Given the description of an element on the screen output the (x, y) to click on. 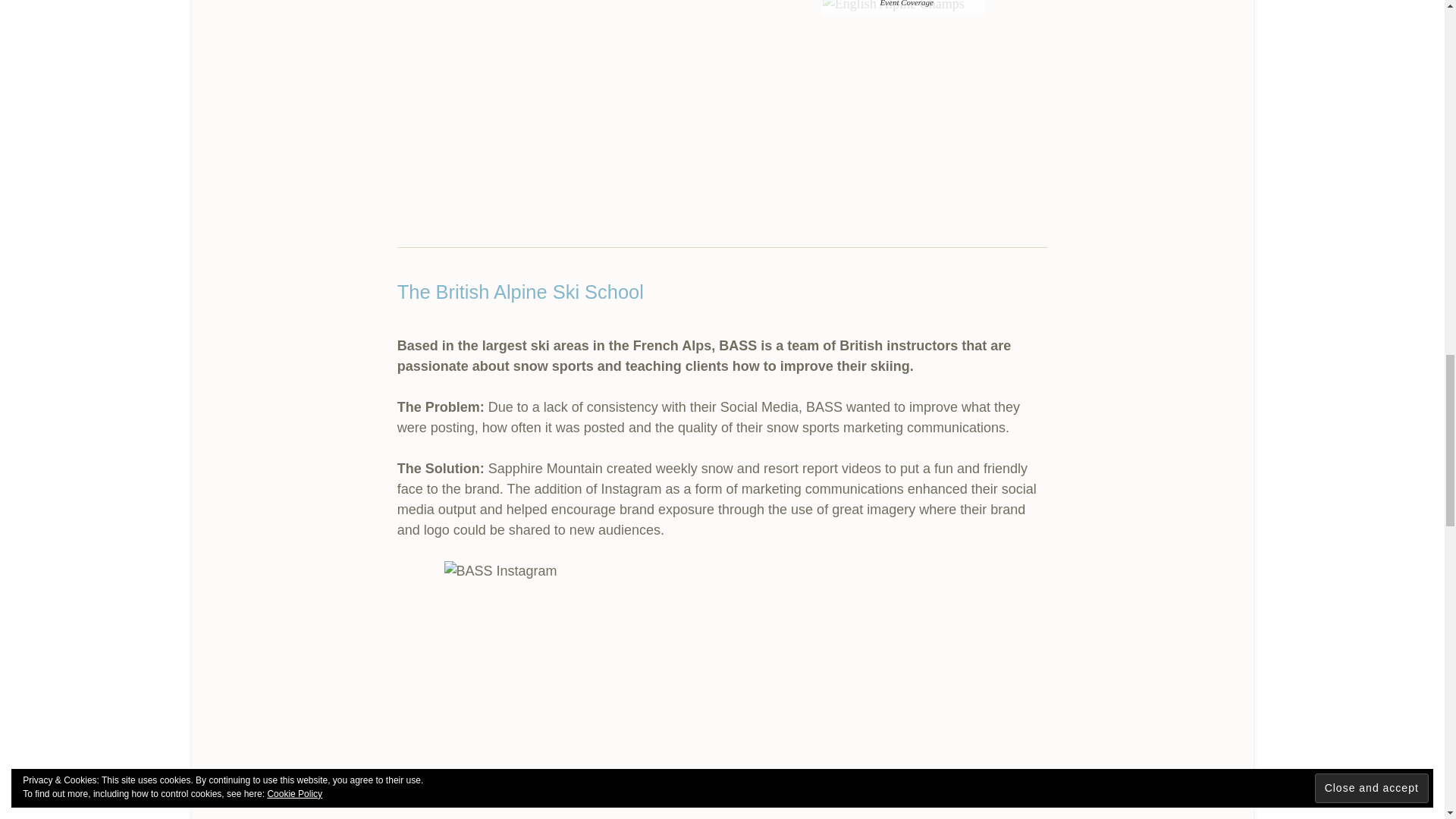
English Alpine Champs (892, 7)
